Given the description of an element on the screen output the (x, y) to click on. 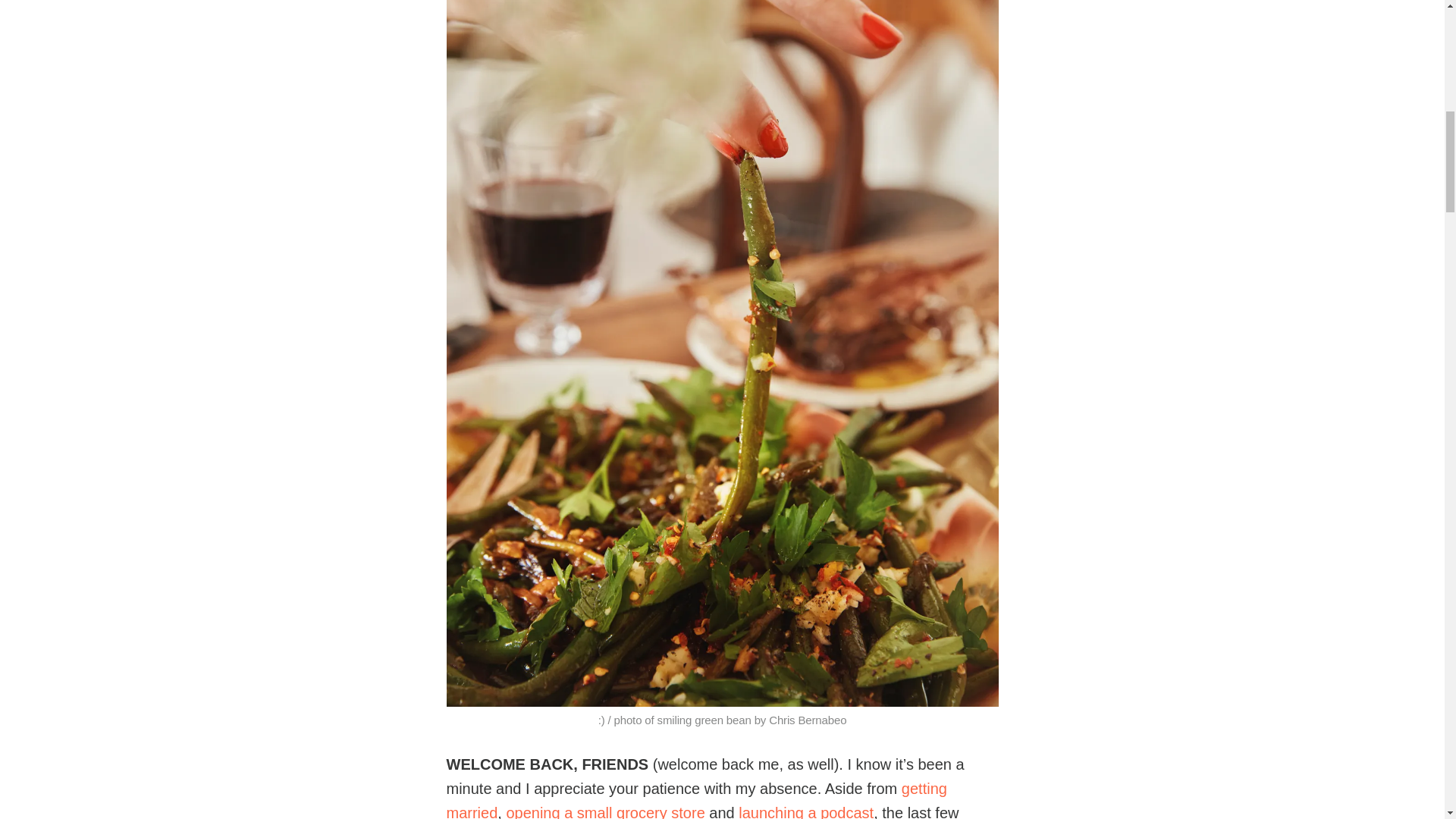
launching a podcast (805, 811)
opening a small grocery store (604, 811)
getting married (695, 799)
